Given the description of an element on the screen output the (x, y) to click on. 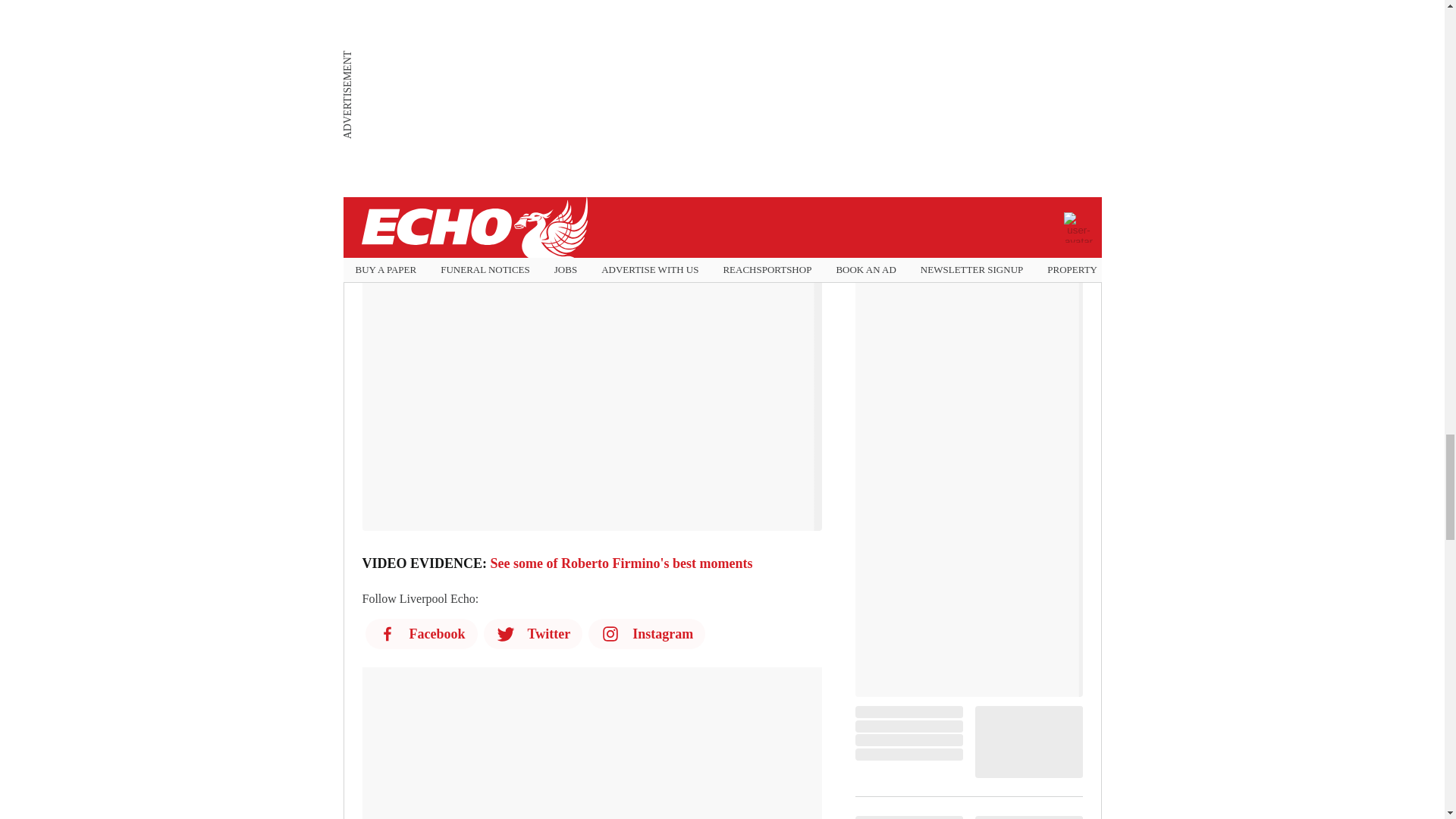
See some of Roberto Firmino's best moments (621, 563)
Instagram (646, 634)
Facebook (421, 634)
Twitter (533, 634)
